Given the description of an element on the screen output the (x, y) to click on. 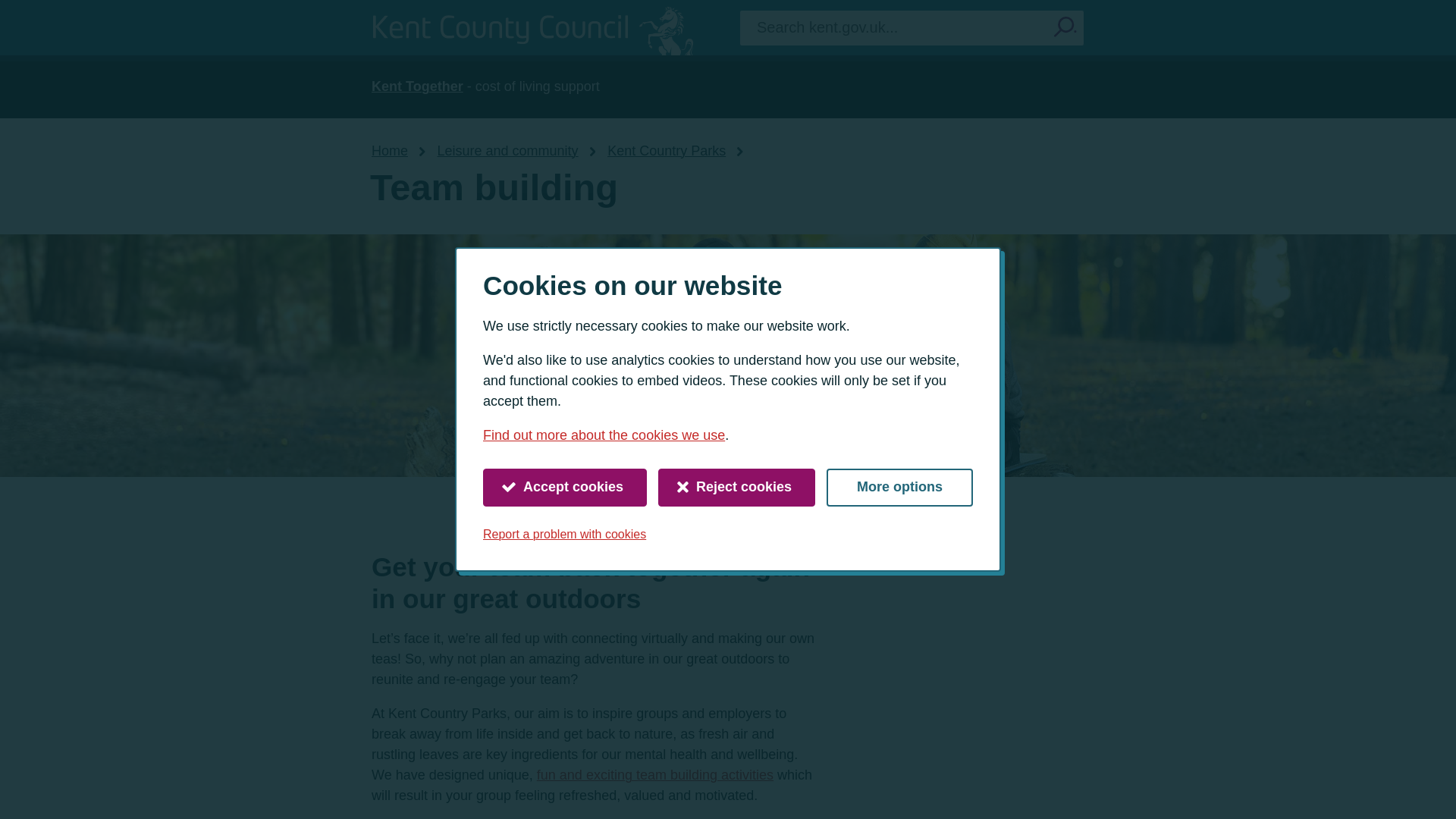
Find out more about the cookies we use (604, 435)
More options (899, 487)
Reject cookies (736, 487)
Home (389, 150)
Leisure and community (508, 150)
fun and exciting team building activities (655, 774)
Kent Country Parks (666, 150)
Search (1065, 27)
Kent Together (417, 86)
Report a problem with cookies (564, 533)
